Given the description of an element on the screen output the (x, y) to click on. 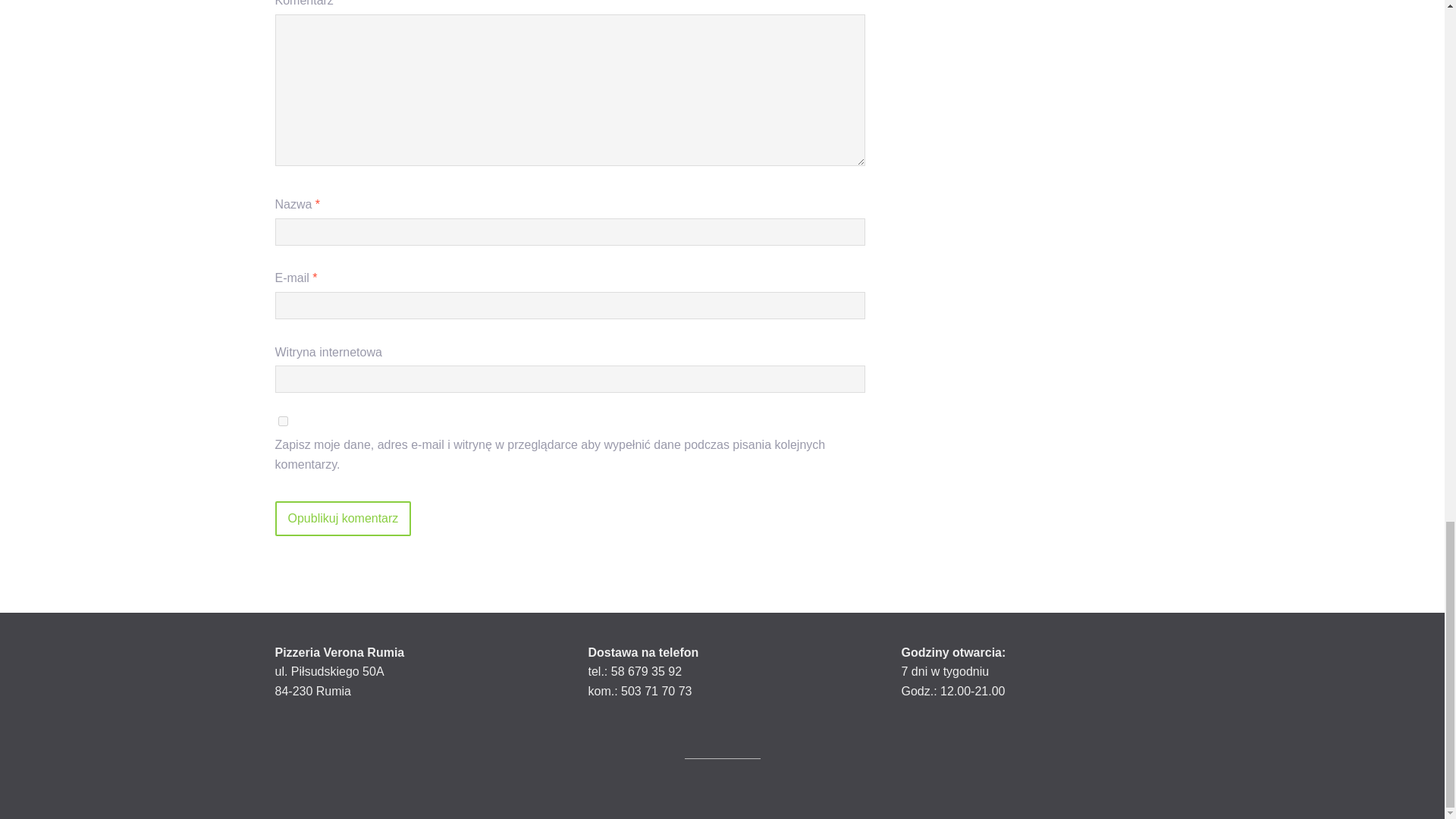
yes (282, 420)
Opublikuj komentarz (342, 518)
Opublikuj komentarz (342, 518)
